Given the description of an element on the screen output the (x, y) to click on. 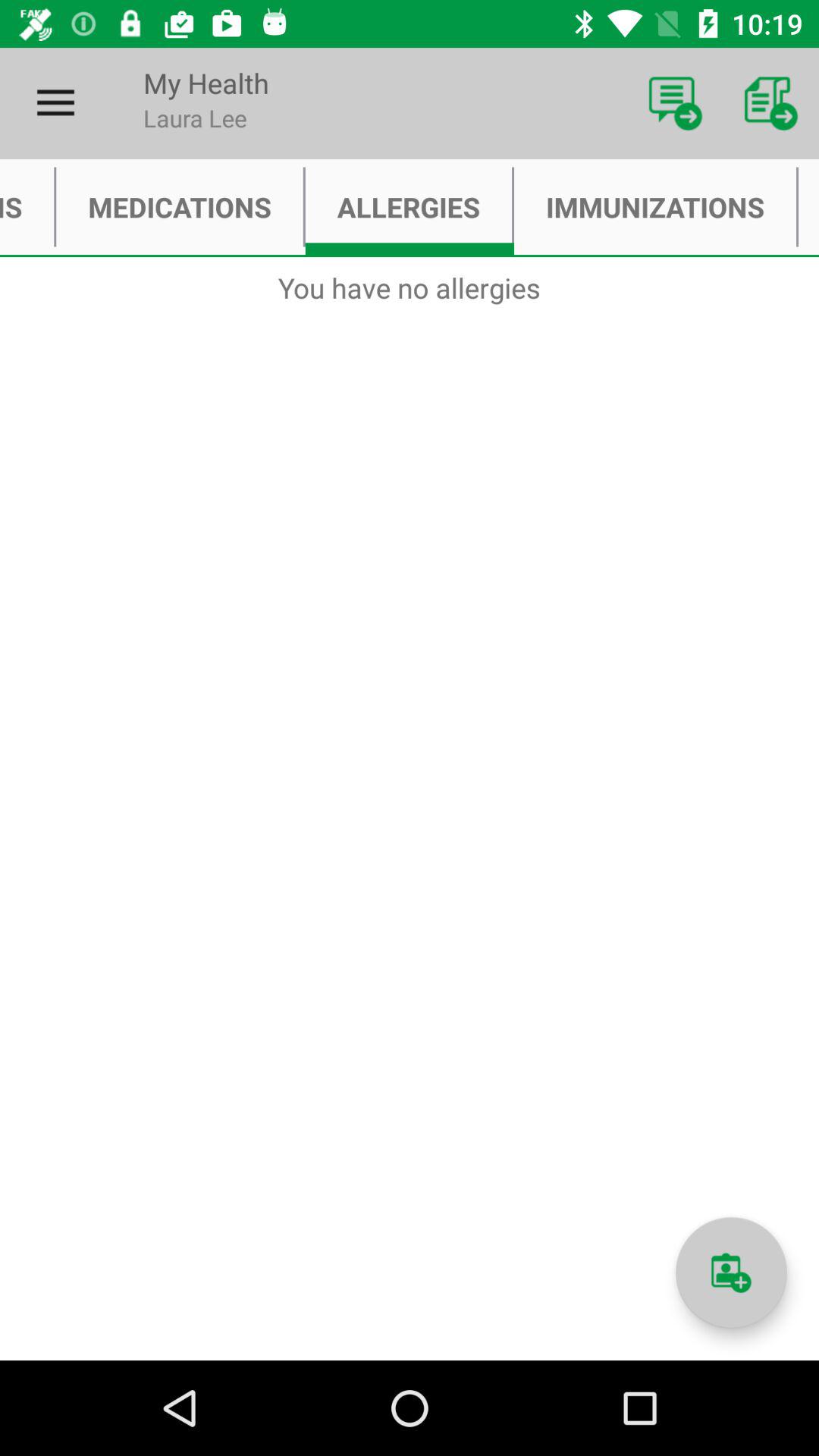
choose item next to my health icon (675, 103)
